Given the description of an element on the screen output the (x, y) to click on. 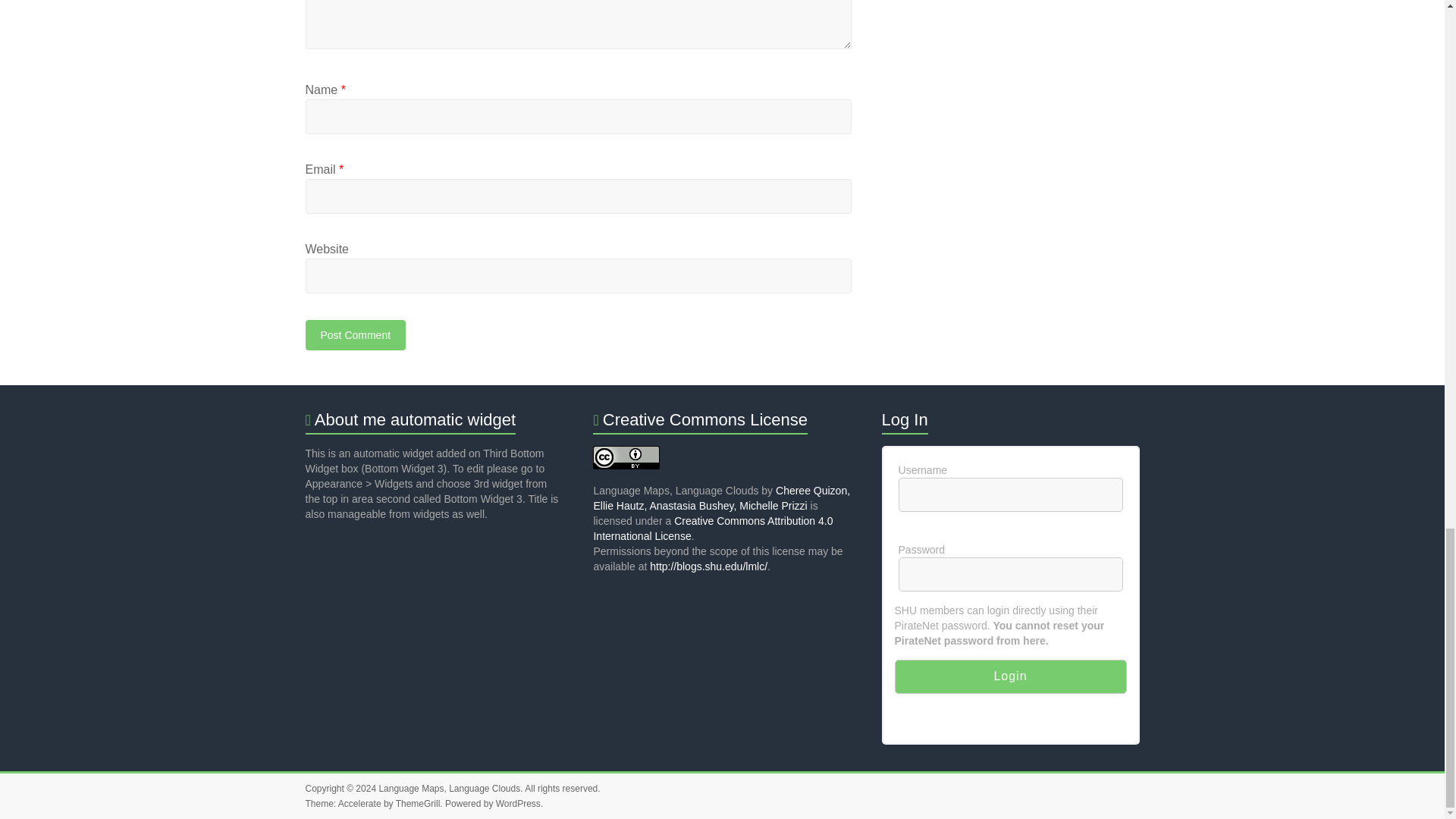
Please enter password (1010, 574)
Post Comment (355, 335)
Please enter username (1010, 494)
Accelerate (359, 803)
Post Comment (355, 335)
Language Maps, Language Clouds (448, 787)
WordPress (518, 803)
Login (1010, 676)
